Given the description of an element on the screen output the (x, y) to click on. 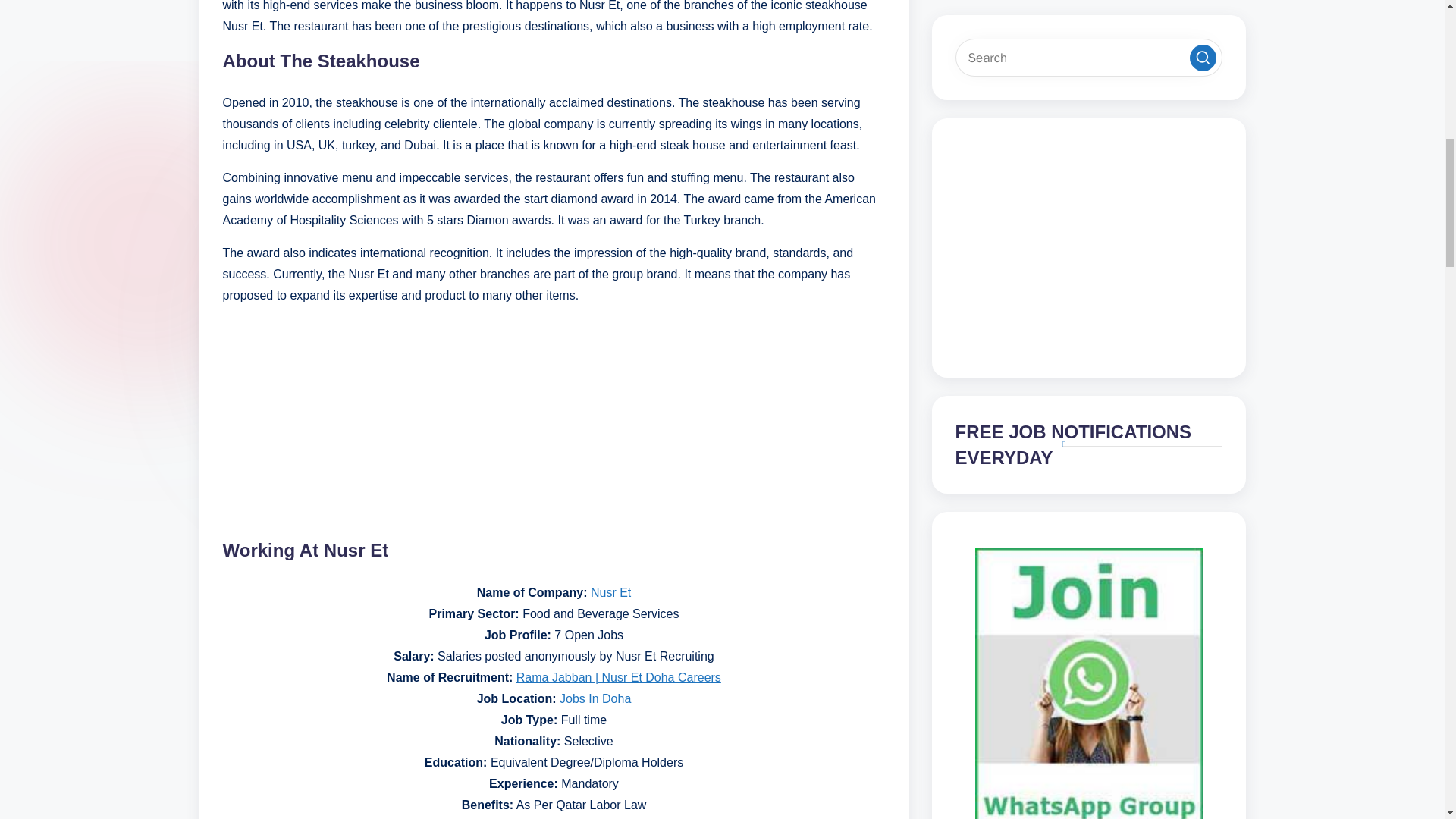
Jobs In Doha (594, 698)
Nusr Et (610, 592)
